Given the description of an element on the screen output the (x, y) to click on. 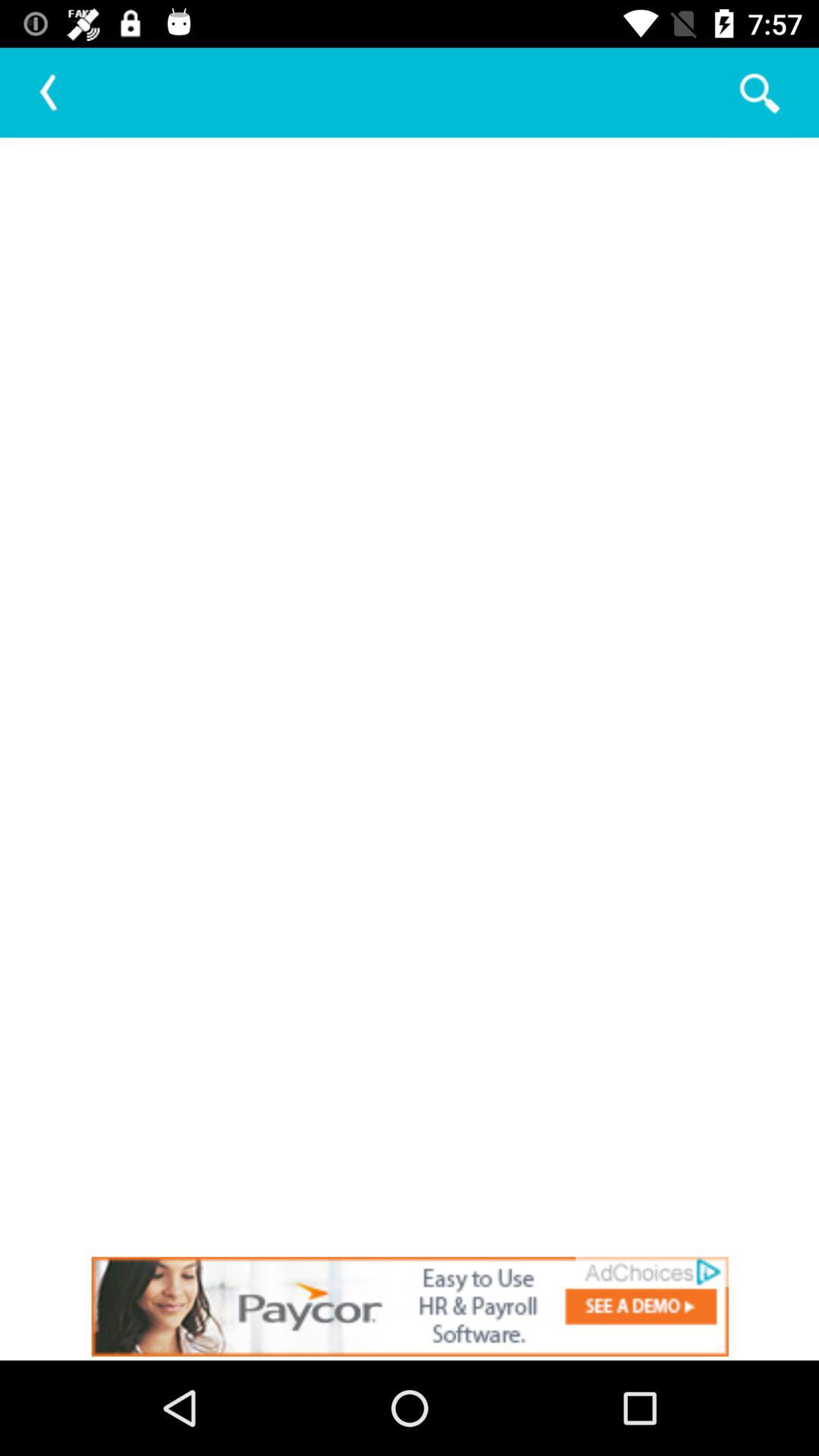
blank page (409, 694)
